Given the description of an element on the screen output the (x, y) to click on. 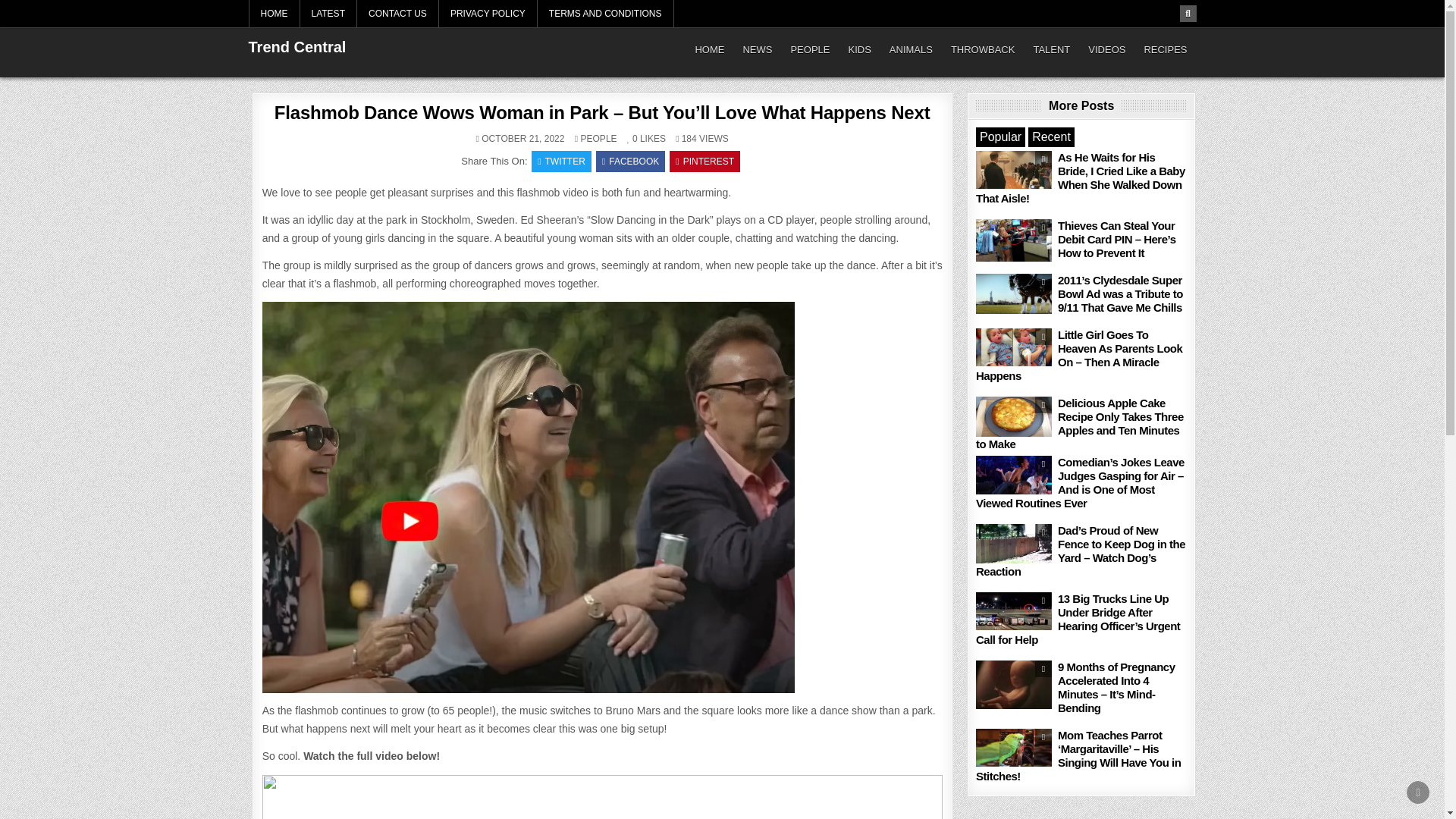
PINTEREST (704, 160)
RECIPES (1164, 49)
CONTACT US (397, 13)
NEWS (756, 49)
TERMS AND CONDITIONS (605, 13)
TWITTER (561, 160)
Like this (632, 138)
ANIMALS (911, 49)
184 Views (685, 138)
0 (632, 138)
VIDEOS (1106, 49)
THROWBACK (983, 49)
Share this on Facebook (630, 160)
PEOPLE (809, 49)
Tweet This! (561, 160)
